Given the description of an element on the screen output the (x, y) to click on. 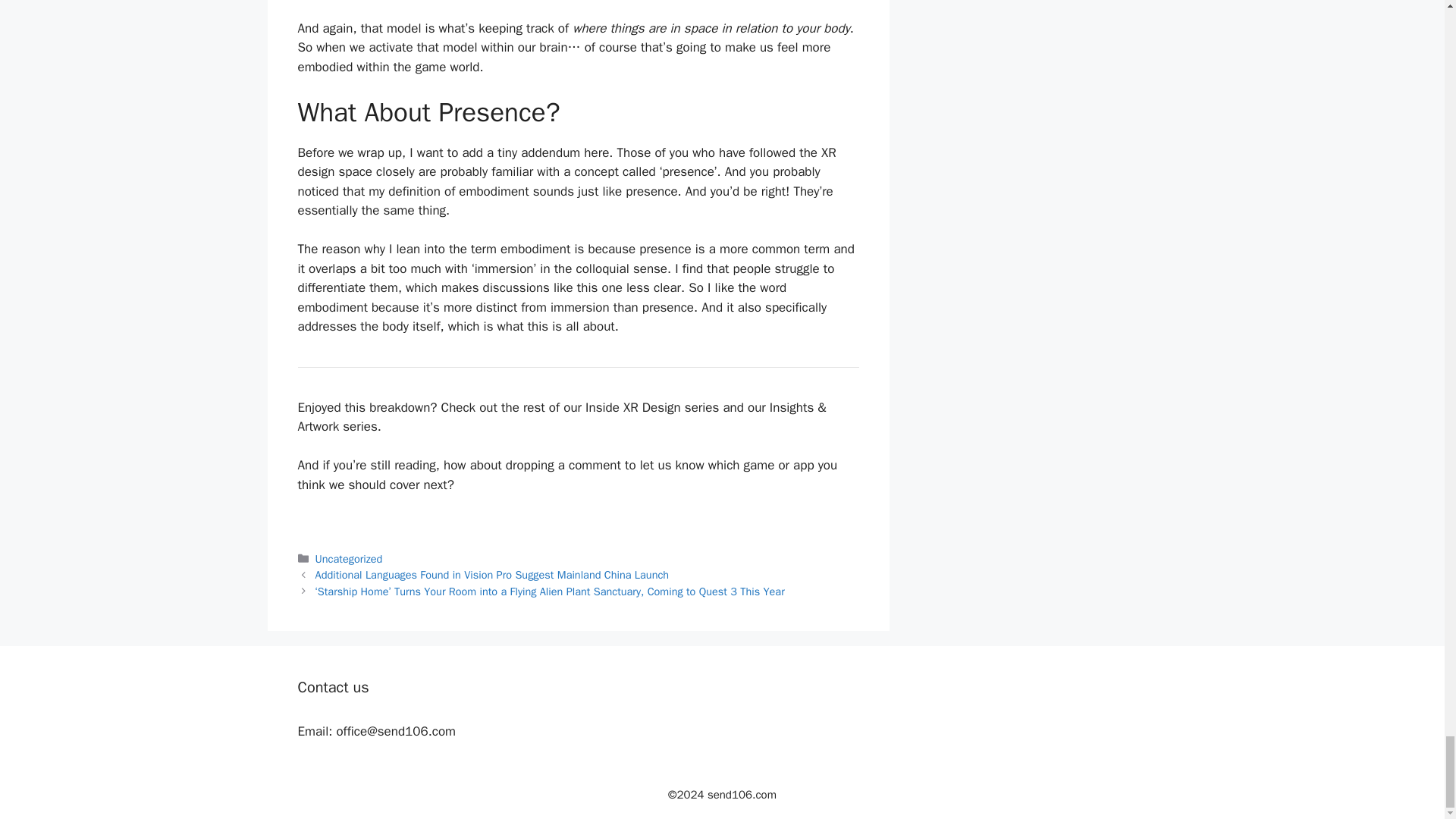
Uncategorized (348, 558)
